Given the description of an element on the screen output the (x, y) to click on. 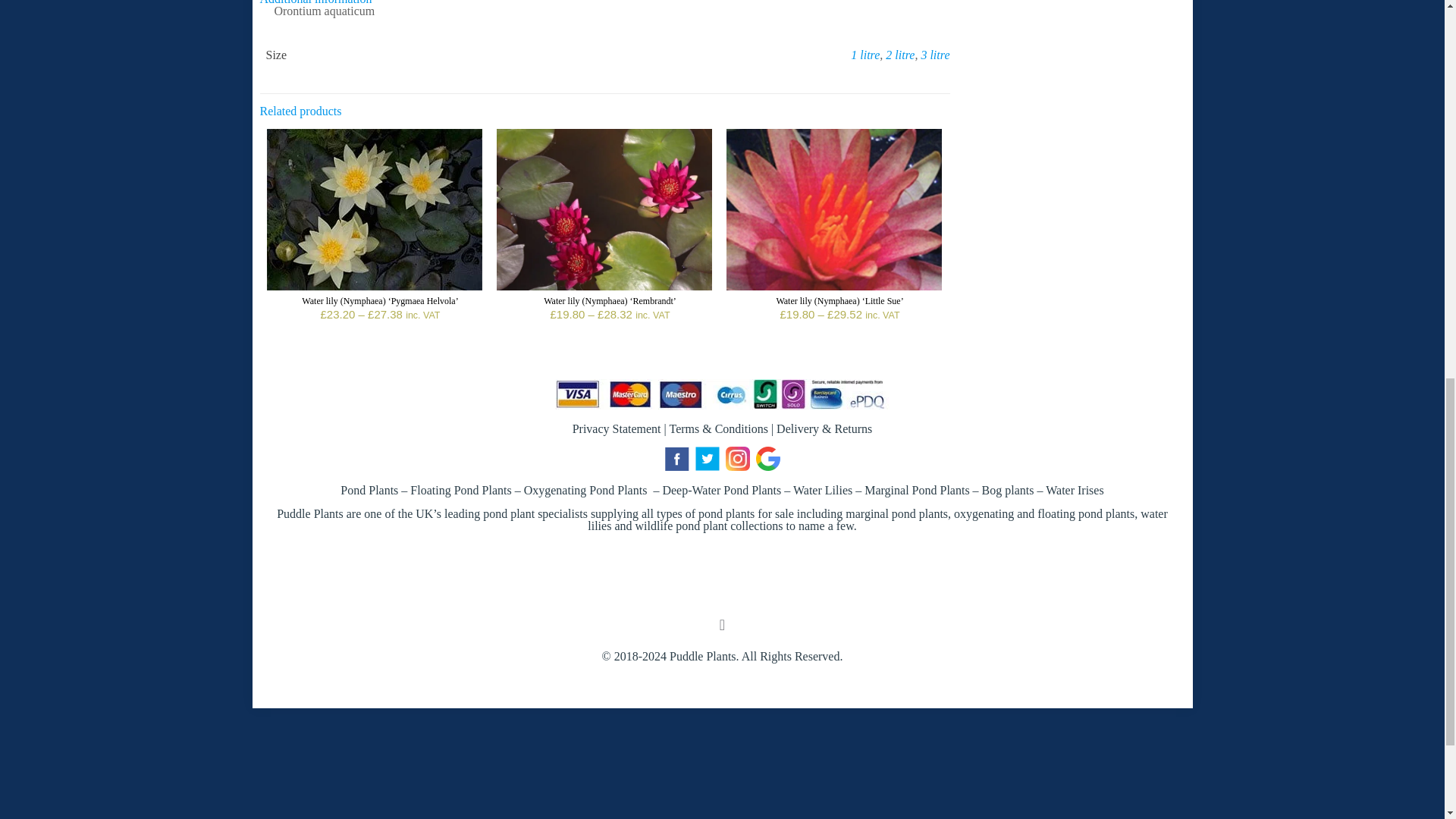
3 litre (934, 54)
1 litre (864, 54)
2 litre (899, 54)
Additional information (315, 2)
